Given the description of an element on the screen output the (x, y) to click on. 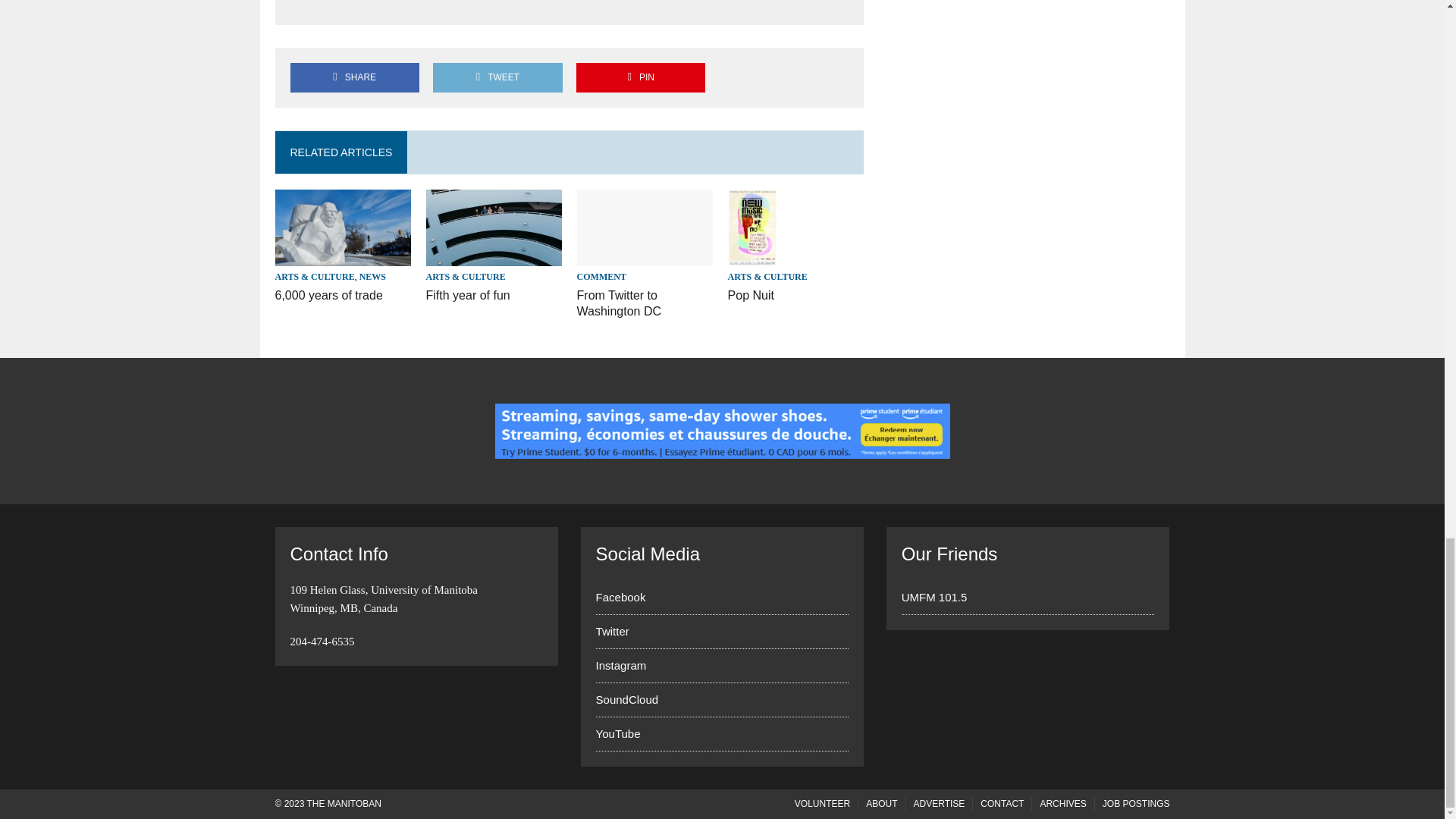
6,000 years of trade (342, 256)
Pin This Post (640, 77)
Tweet This Post (497, 77)
From Twitter to Washington DC (644, 255)
Pop Nuit (751, 295)
6,000 years of trade (328, 295)
Pop Nuit (752, 255)
Fifth year of fun (468, 295)
Share on Facebook (354, 77)
Fifth year of fun (494, 255)
From Twitter to Washington DC (618, 303)
